Given the description of an element on the screen output the (x, y) to click on. 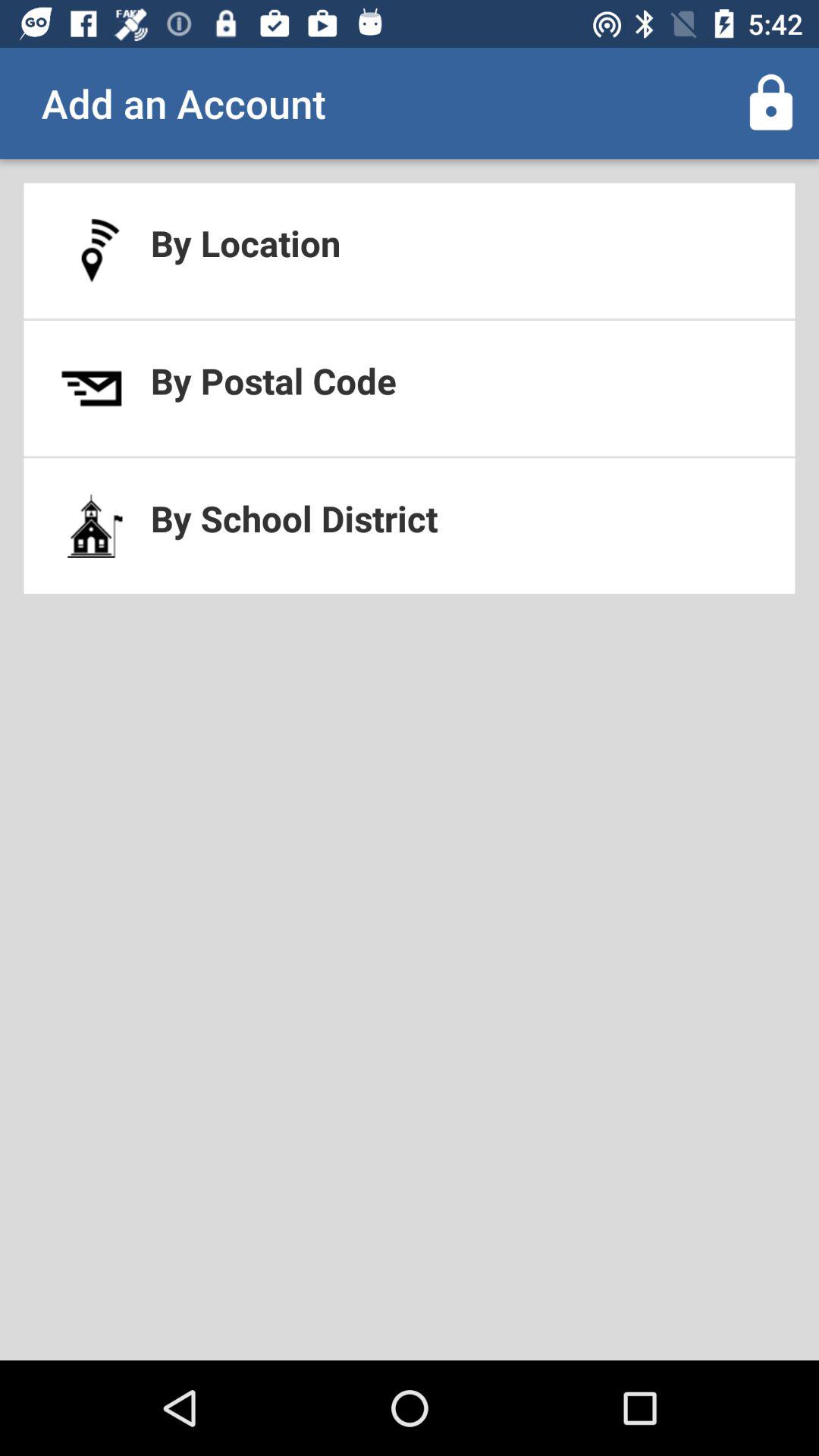
press the    by school district (409, 525)
